Given the description of an element on the screen output the (x, y) to click on. 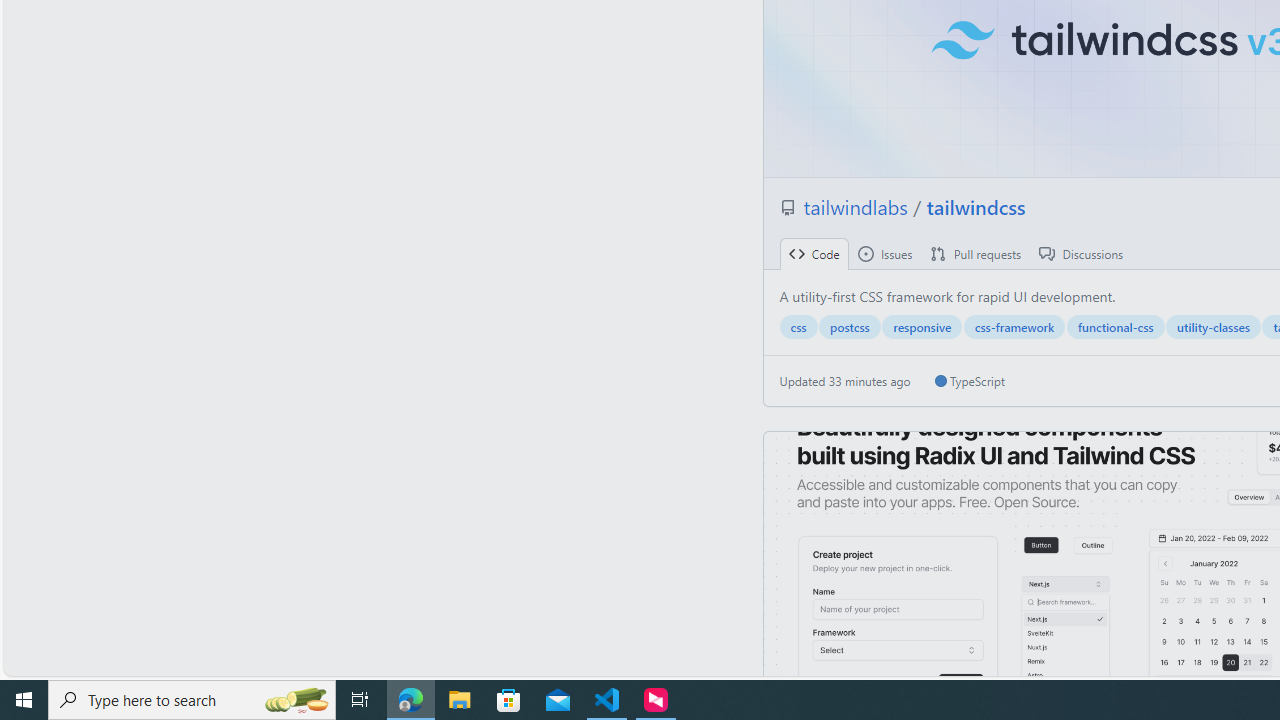
utility-classes (1213, 327)
functional-css (1115, 327)
TypeScript (969, 381)
 Code (813, 254)
tailwindlabs  (857, 206)
 Code (813, 254)
 Issues (884, 254)
 Pull requests (975, 254)
postcss (849, 327)
responsive (921, 327)
 Pull requests (975, 254)
css (798, 327)
 Discussions (1081, 254)
css-framework (1014, 327)
tailwindcss (975, 206)
